Given the description of an element on the screen output the (x, y) to click on. 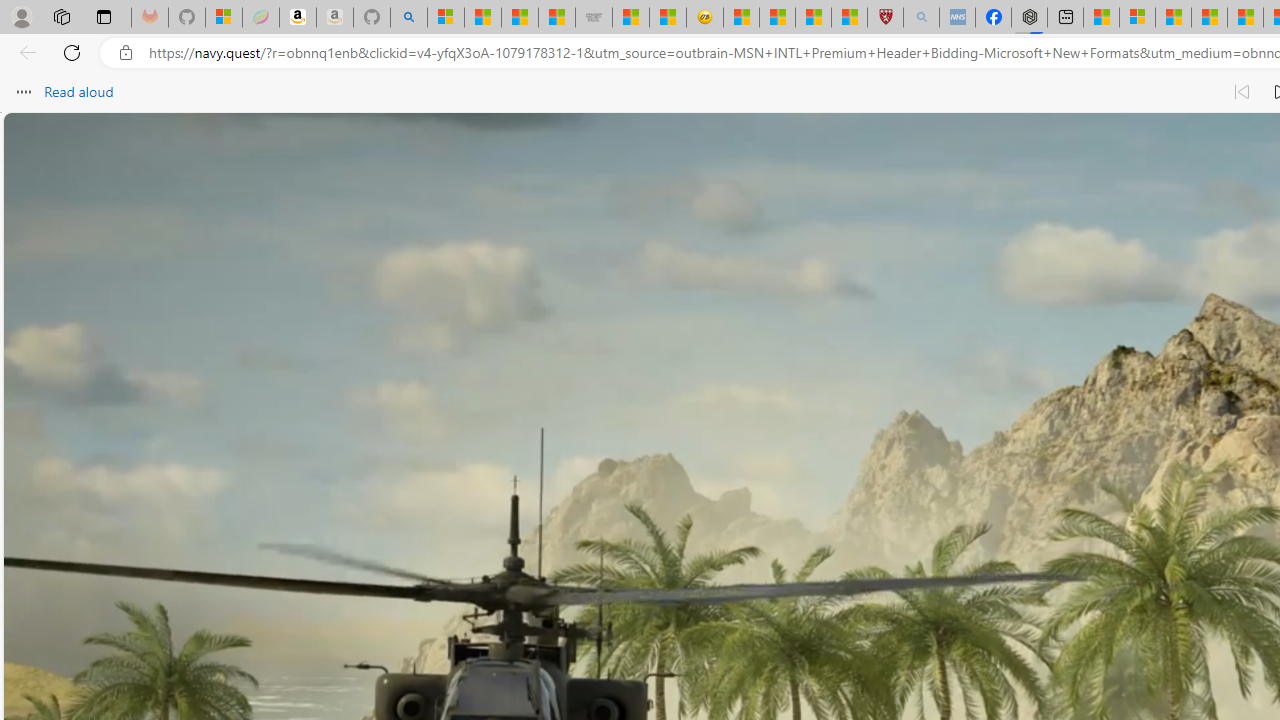
Read previous paragraph (1241, 92)
